Given the description of an element on the screen output the (x, y) to click on. 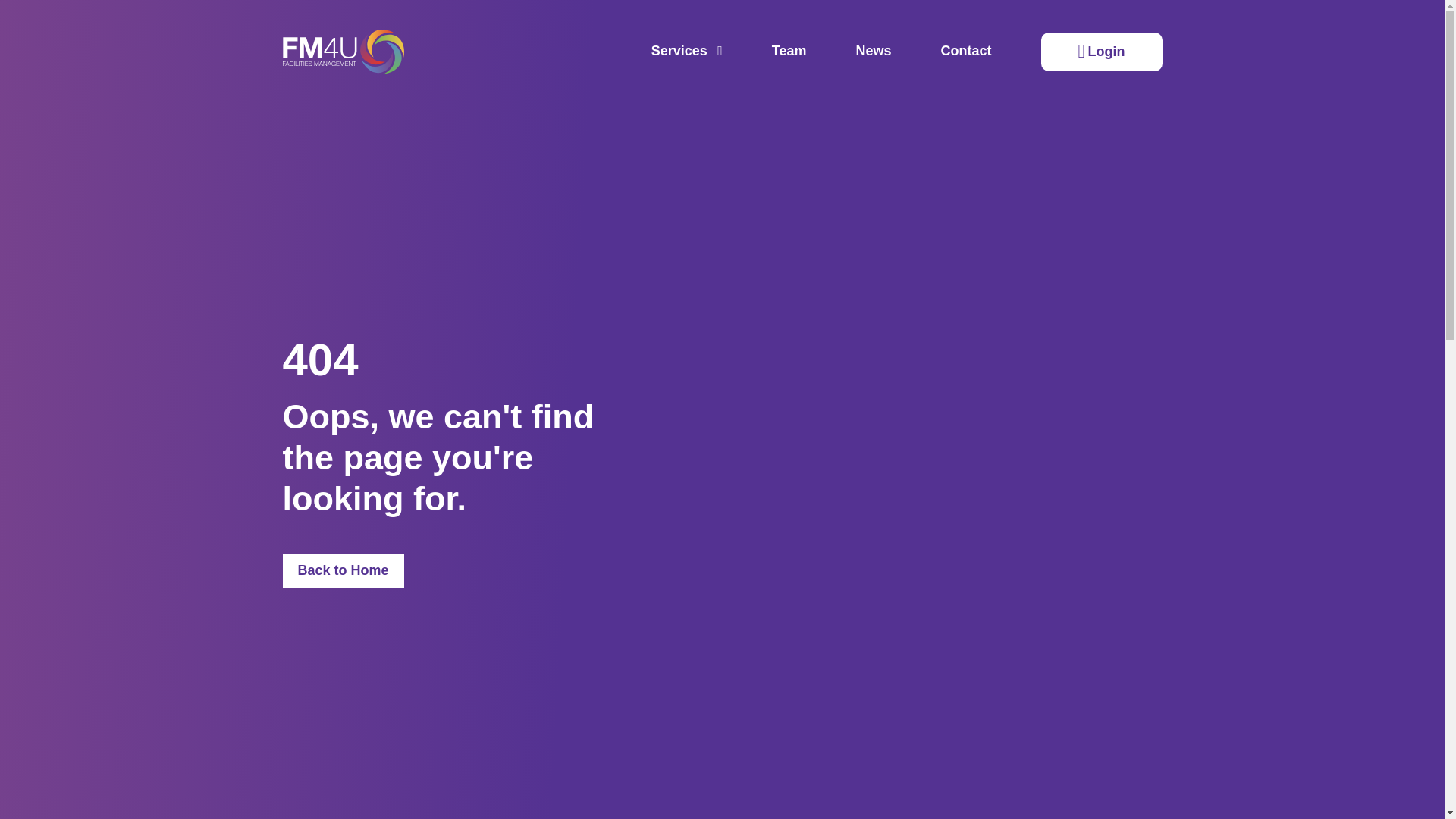
Team (788, 51)
Login (1101, 51)
Back to Home (342, 570)
Contact (965, 51)
News (873, 51)
Services (686, 51)
